Given the description of an element on the screen output the (x, y) to click on. 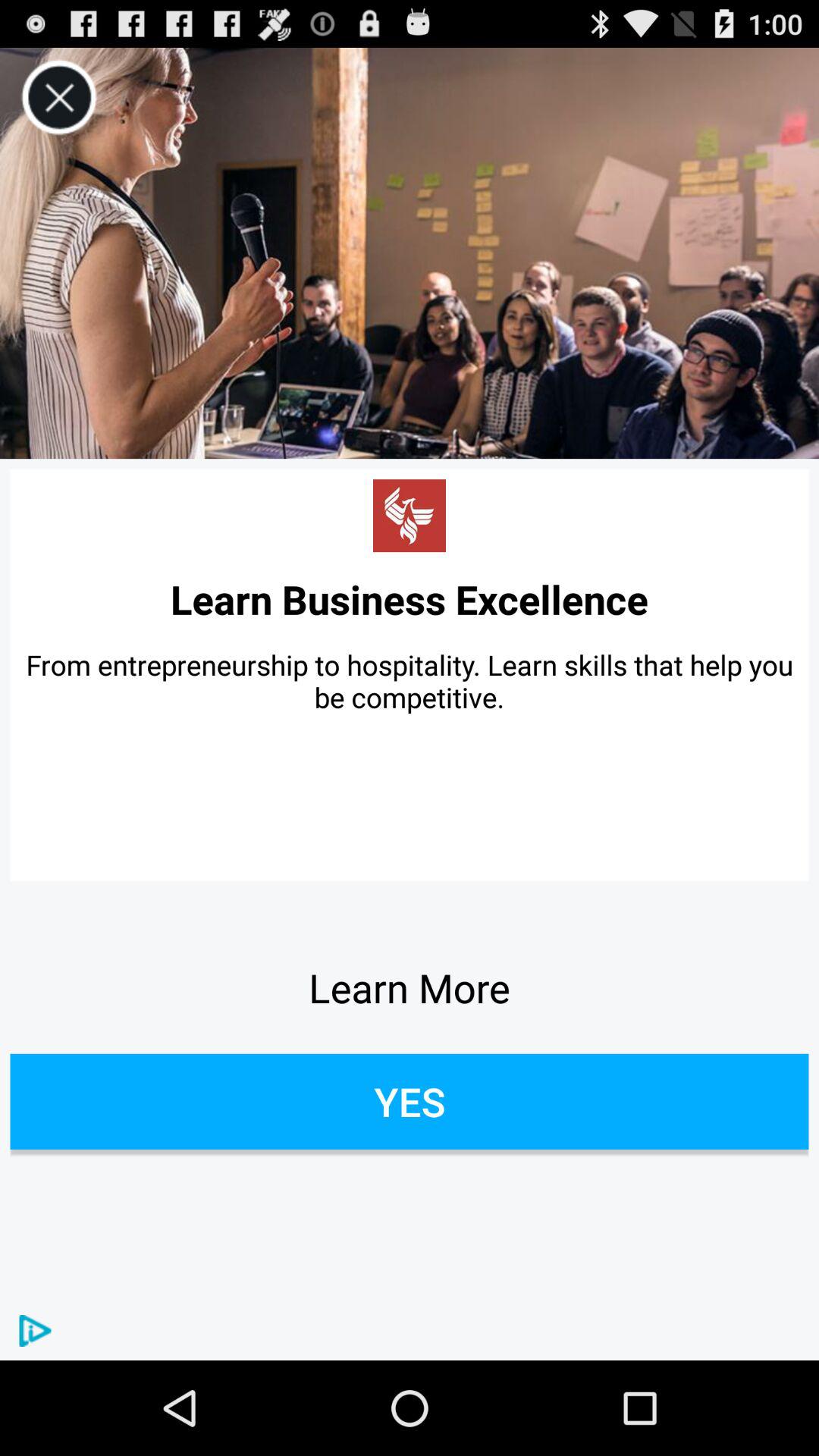
press icon above learn business excellence app (409, 515)
